Given the description of an element on the screen output the (x, y) to click on. 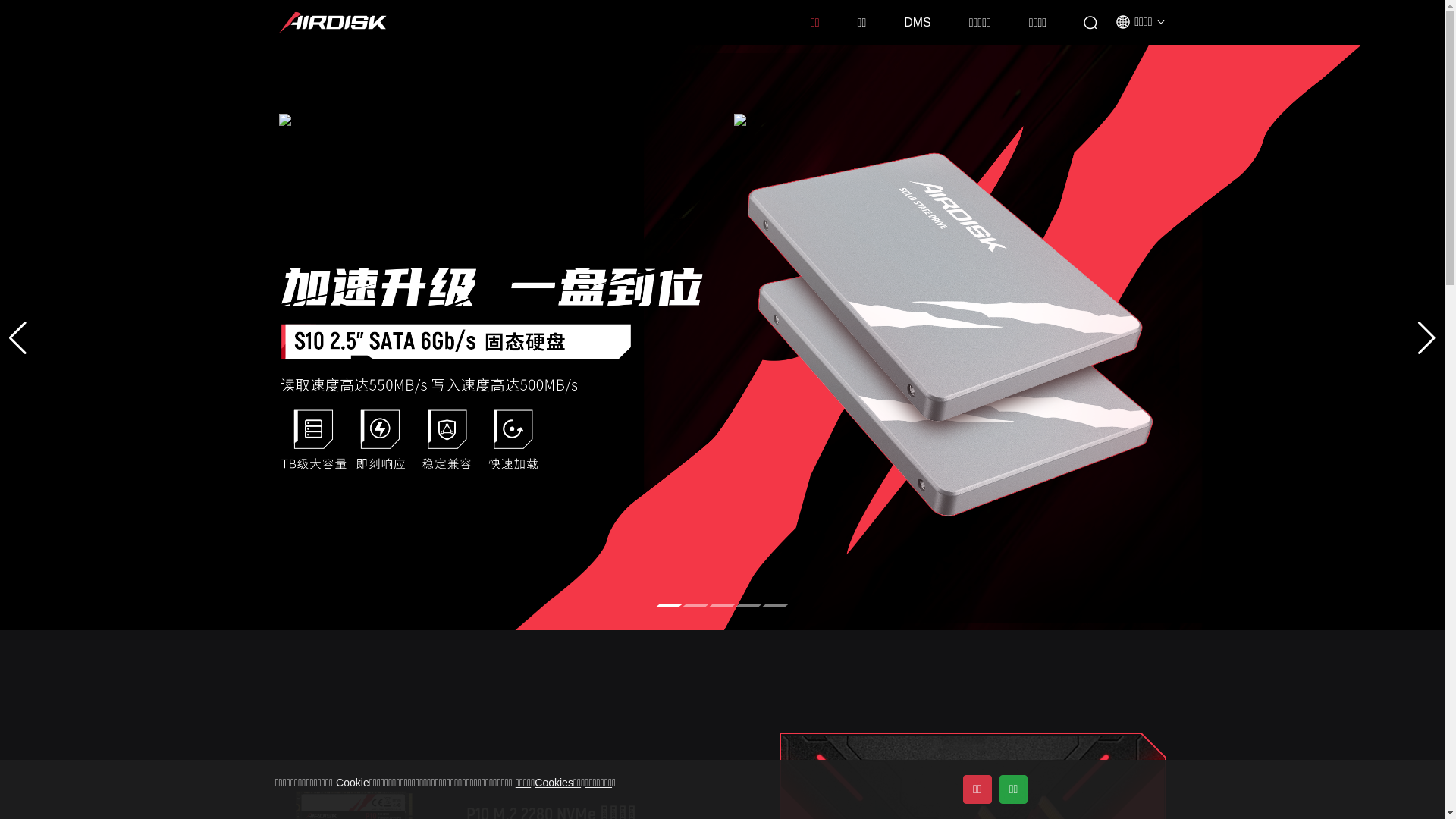
DMS Element type: text (916, 22)
